Given the description of an element on the screen output the (x, y) to click on. 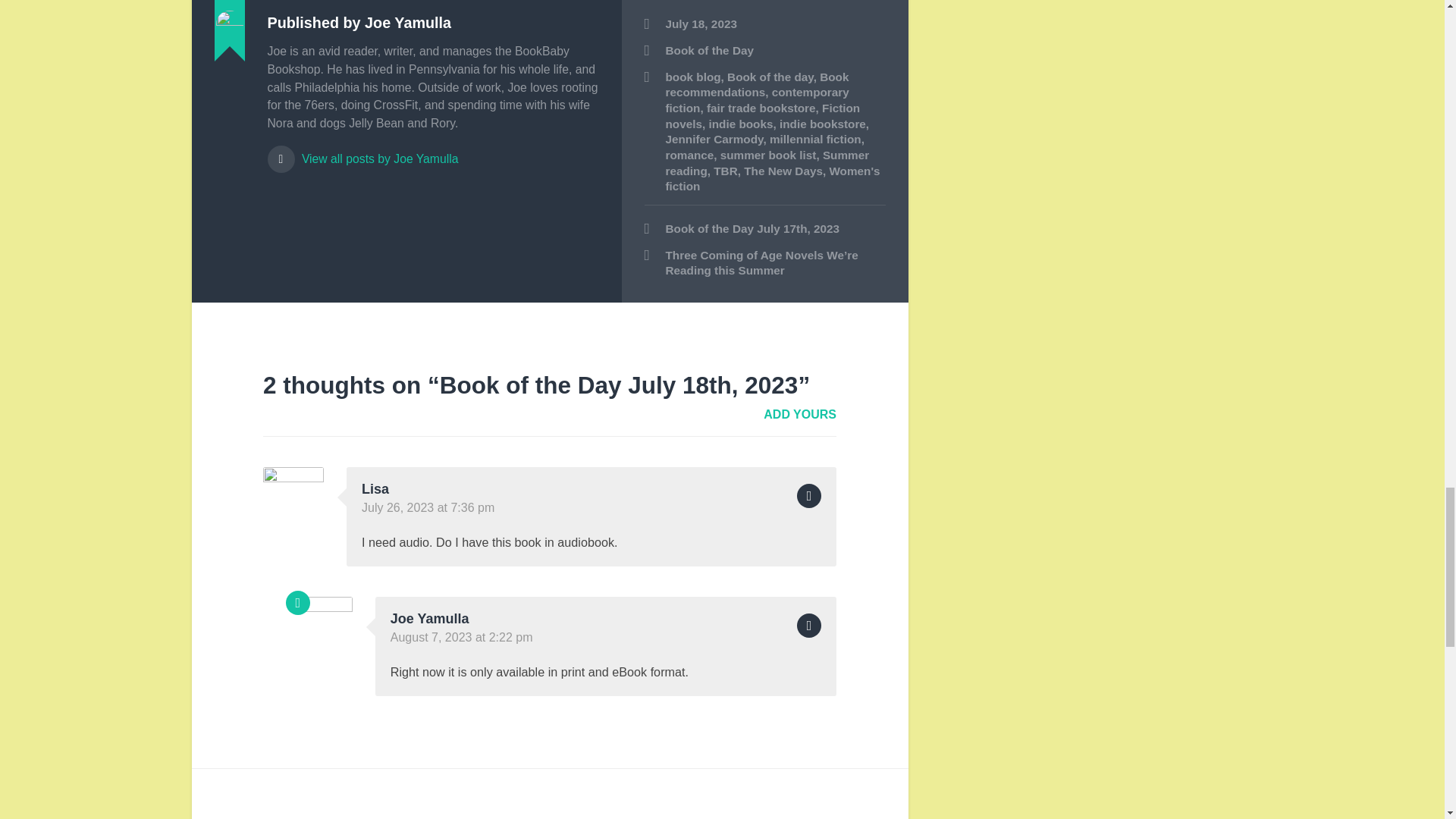
Women's fiction (772, 178)
contemporary fiction (756, 99)
millennial fiction (815, 138)
summer book list (768, 154)
indie books (740, 123)
View all posts by Joe Yamulla (432, 151)
romance (689, 154)
Book recommendations (756, 84)
indie bookstore (822, 123)
Book of the Day July 17th, 2023 (765, 229)
Fiction novels (762, 115)
Book of the day (769, 76)
fair trade bookstore (760, 107)
Jennifer Carmody (713, 138)
The New Days (783, 170)
